Given the description of an element on the screen output the (x, y) to click on. 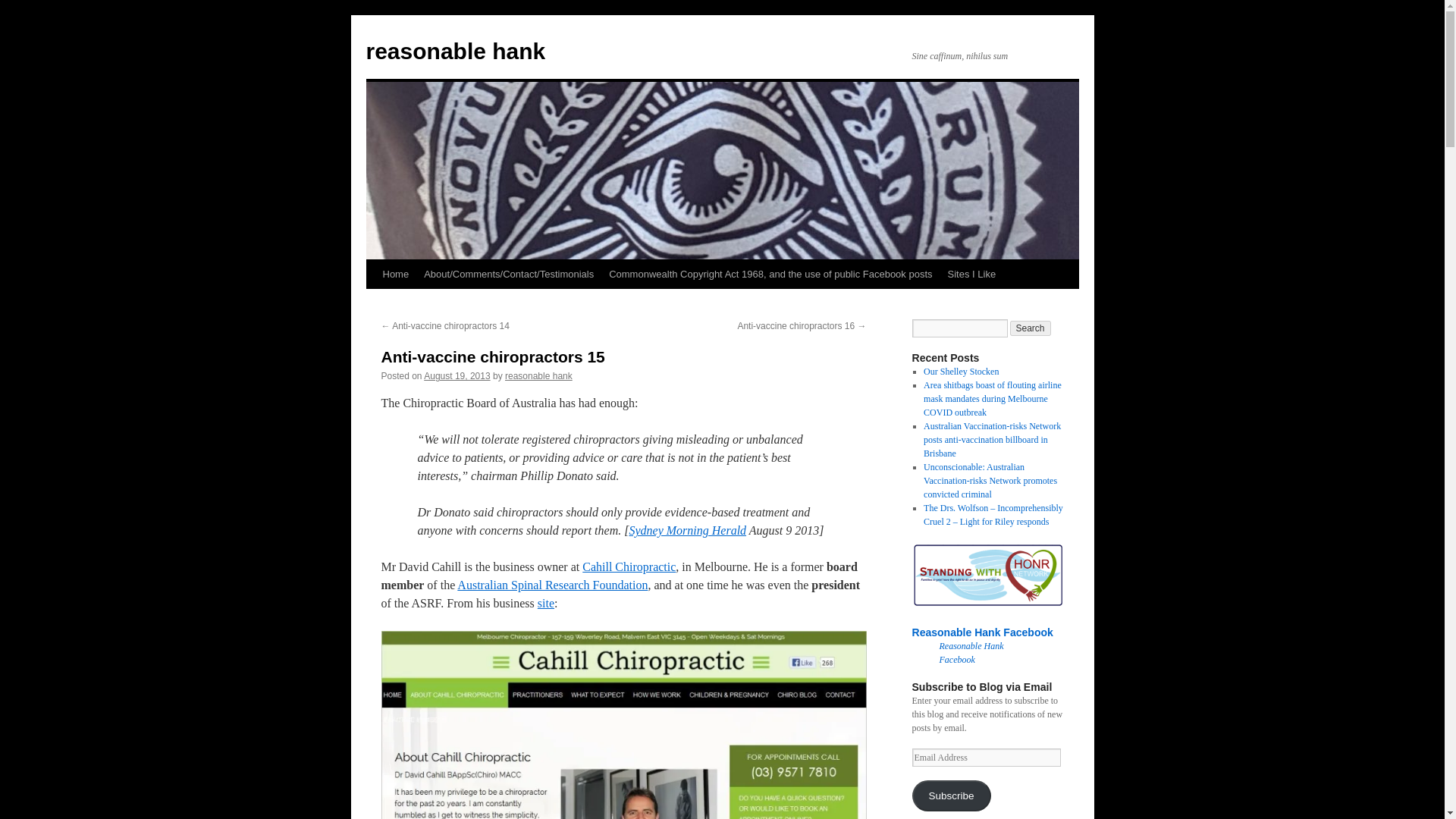
Home (395, 274)
site (545, 603)
Search (1030, 328)
9:26 am (456, 376)
reasonable hank (454, 50)
Australian Spinal Research Foundation (552, 584)
Sydney Morning Herald (686, 530)
August 19, 2013 (456, 376)
Sites I Like (972, 274)
Cahill Chiropractic (628, 566)
View all posts by reasonable hank (538, 376)
reasonable hank (454, 50)
reasonable hank (538, 376)
